Given the description of an element on the screen output the (x, y) to click on. 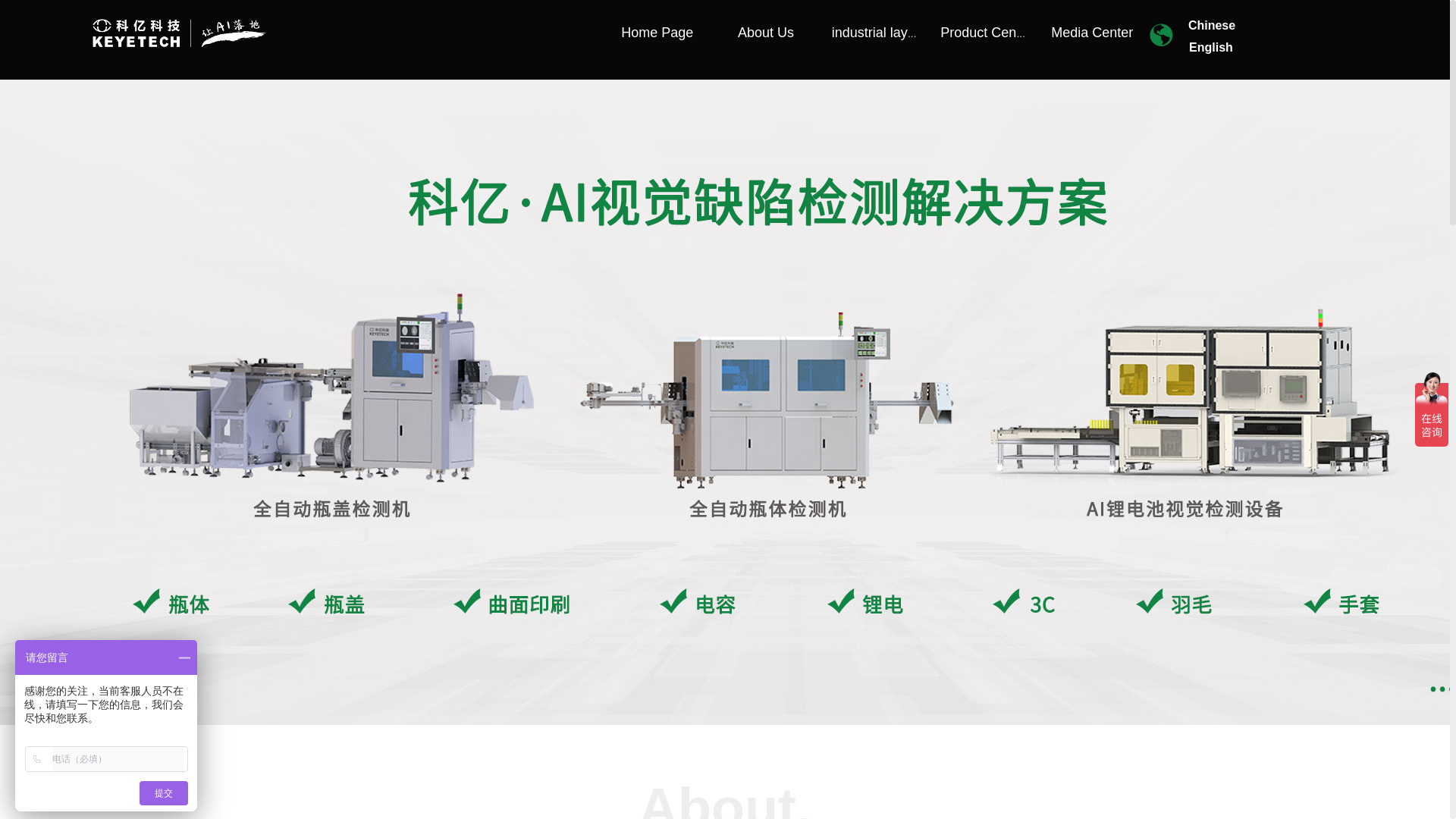
Media Center (1092, 32)
Home Page (657, 32)
Chinese (1211, 25)
industrial layout (874, 32)
Product Center (983, 32)
About Us (765, 32)
English (1211, 47)
